Given the description of an element on the screen output the (x, y) to click on. 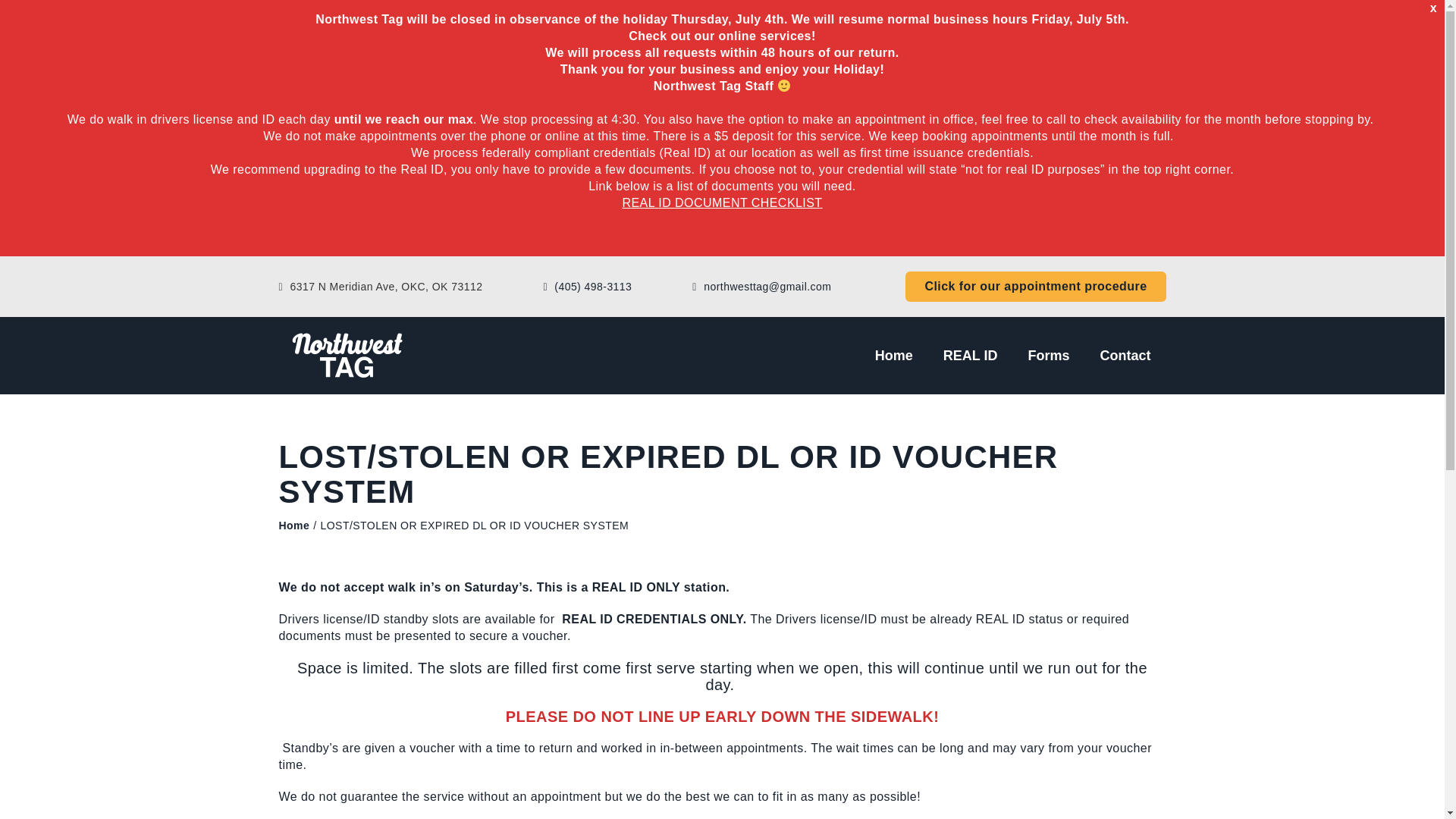
REAL ID DOCUMENT CHECKLIST (721, 202)
x (1433, 8)
Click for our appointment procedure (1035, 286)
Home (893, 355)
Home (294, 525)
Forms (1047, 355)
Contact (1124, 355)
REAL ID (970, 355)
